Given the description of an element on the screen output the (x, y) to click on. 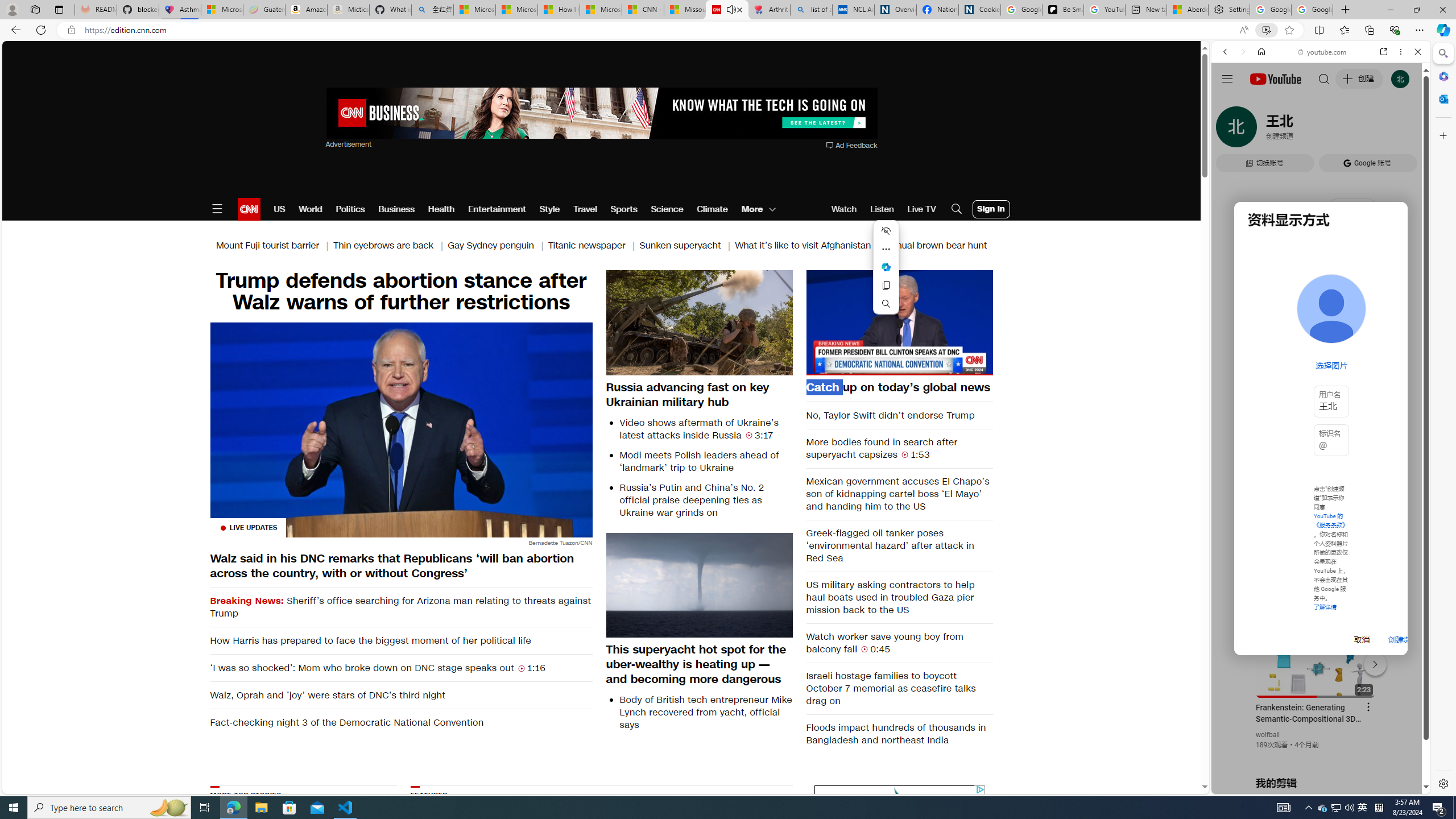
Mute (821, 365)
More actions (885, 248)
Live TV (921, 208)
Climate (712, 209)
Mute tab (730, 8)
